Given the description of an element on the screen output the (x, y) to click on. 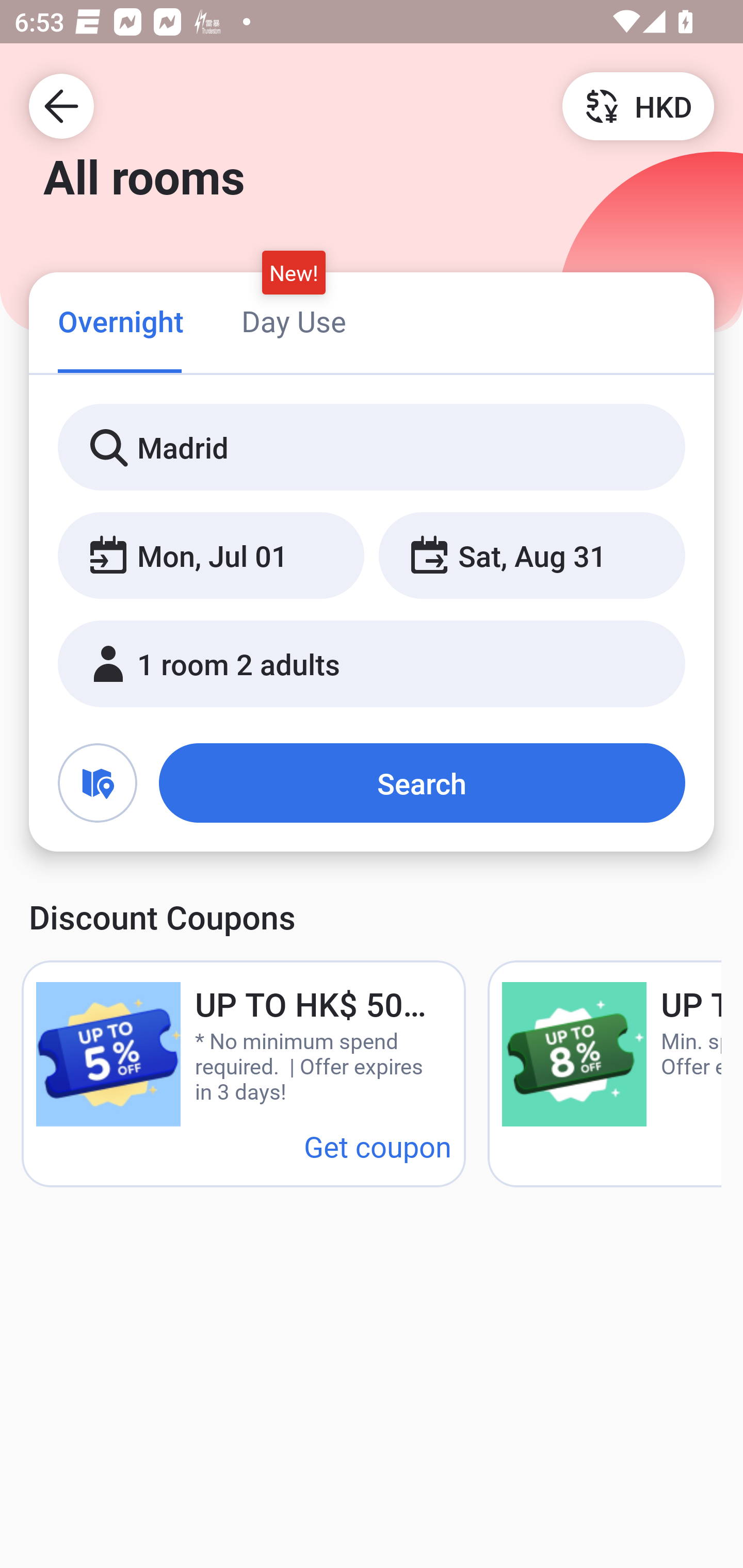
HKD (638, 105)
New! (294, 272)
Day Use (293, 321)
Madrid (371, 447)
Mon, Jul 01 (210, 555)
Sat, Aug 31 (531, 555)
1 room 2 adults (371, 663)
Search (422, 783)
Get coupon (377, 1146)
